Given the description of an element on the screen output the (x, y) to click on. 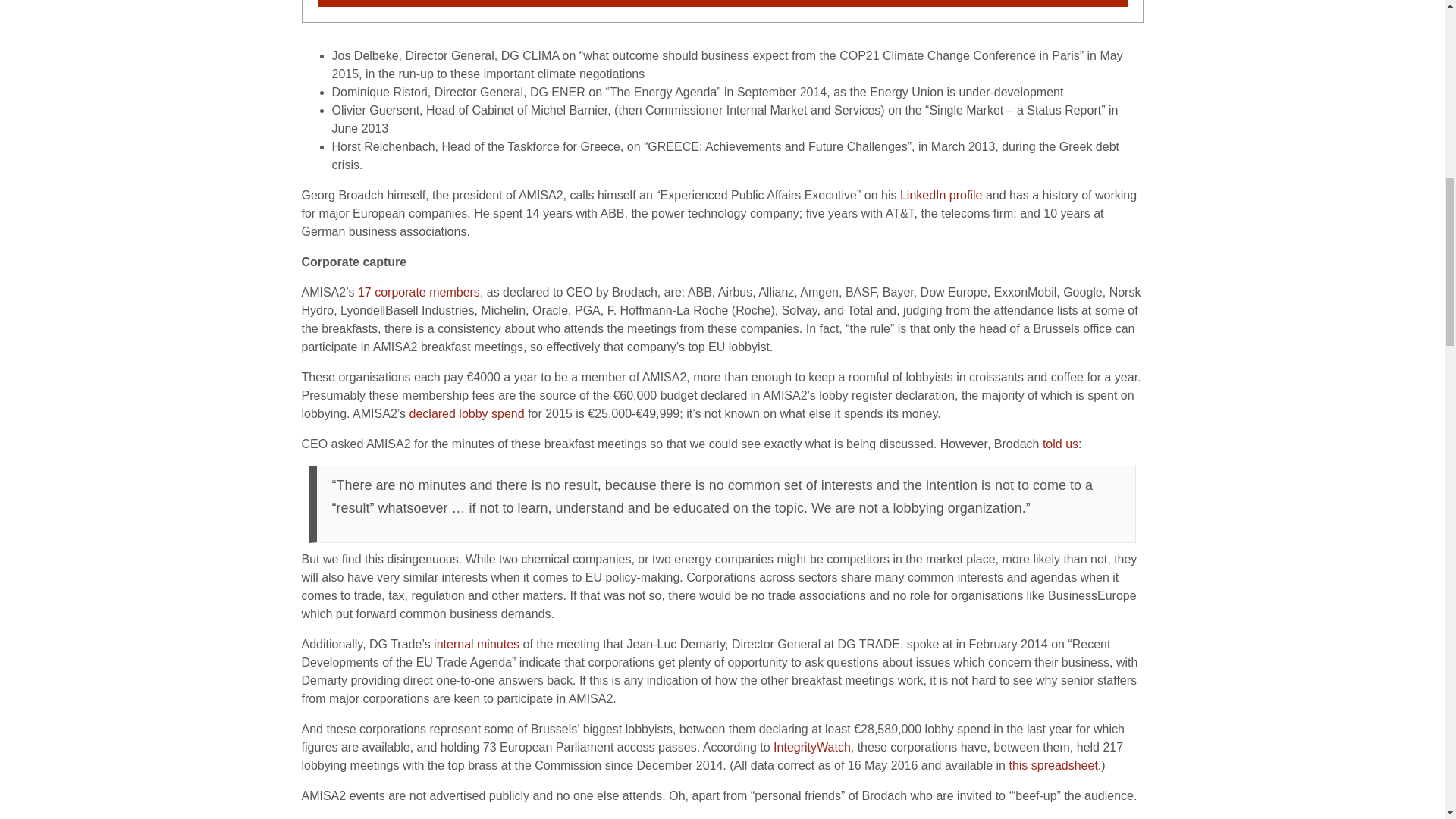
told us (1060, 443)
17 corporate (393, 291)
IntegrityWatch (811, 747)
internal (455, 644)
minutes (498, 644)
LinkedIn profile (940, 195)
members (454, 291)
decl (419, 413)
red lobby spend (481, 413)
this spreadsheet (1053, 765)
